Given the description of an element on the screen output the (x, y) to click on. 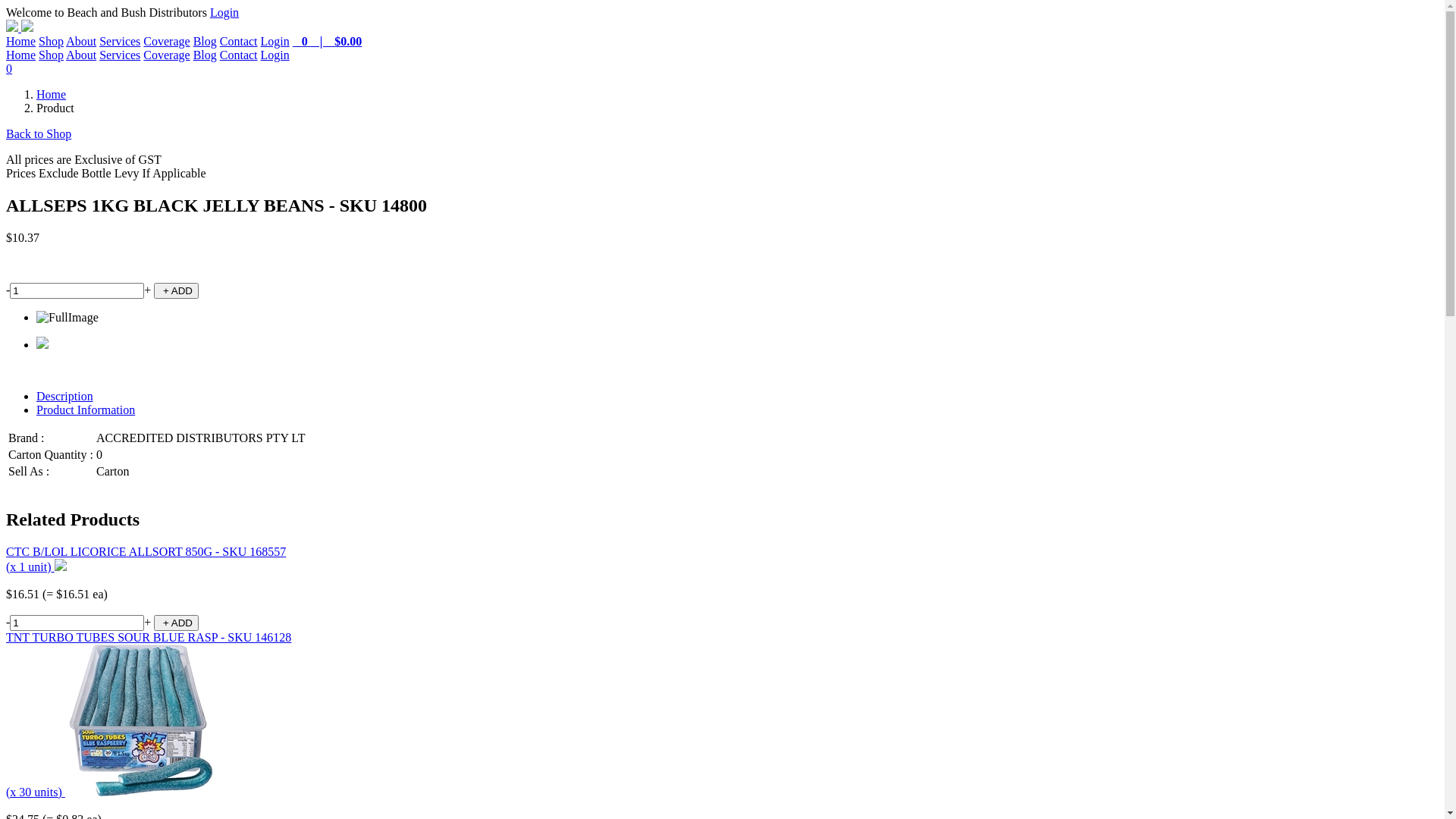
Services Element type: text (119, 40)
CTC B/LOL LICORICE ALLSORT 850G - SKU 168557
(x 1 unit) Element type: text (145, 559)
Blog Element type: text (204, 40)
TNT TURBO TUBES SOUR BLUE RASP - SKU 146128
(x 30 units) Element type: text (148, 714)
Login Element type: text (274, 40)
Shop Element type: text (50, 40)
 + ADD Element type: text (175, 290)
Product Information Element type: text (85, 409)
About Element type: text (80, 40)
   0    |    $0.00 Element type: text (327, 40)
+ Element type: text (147, 621)
Contact Element type: text (238, 54)
Home Element type: text (20, 54)
- Element type: text (7, 289)
Back to Shop Element type: text (38, 133)
Shop Element type: text (50, 54)
Coverage Element type: text (166, 54)
 + ADD Element type: text (175, 622)
Home Element type: text (20, 40)
Home Element type: text (50, 93)
- Element type: text (7, 621)
Coverage Element type: text (166, 40)
Login Element type: text (224, 12)
+ Element type: text (147, 289)
Contact Element type: text (238, 40)
Services Element type: text (119, 54)
About Element type: text (80, 54)
Description Element type: text (64, 395)
Login Element type: text (274, 54)
0 Element type: text (722, 68)
Blog Element type: text (204, 54)
